Given the description of an element on the screen output the (x, y) to click on. 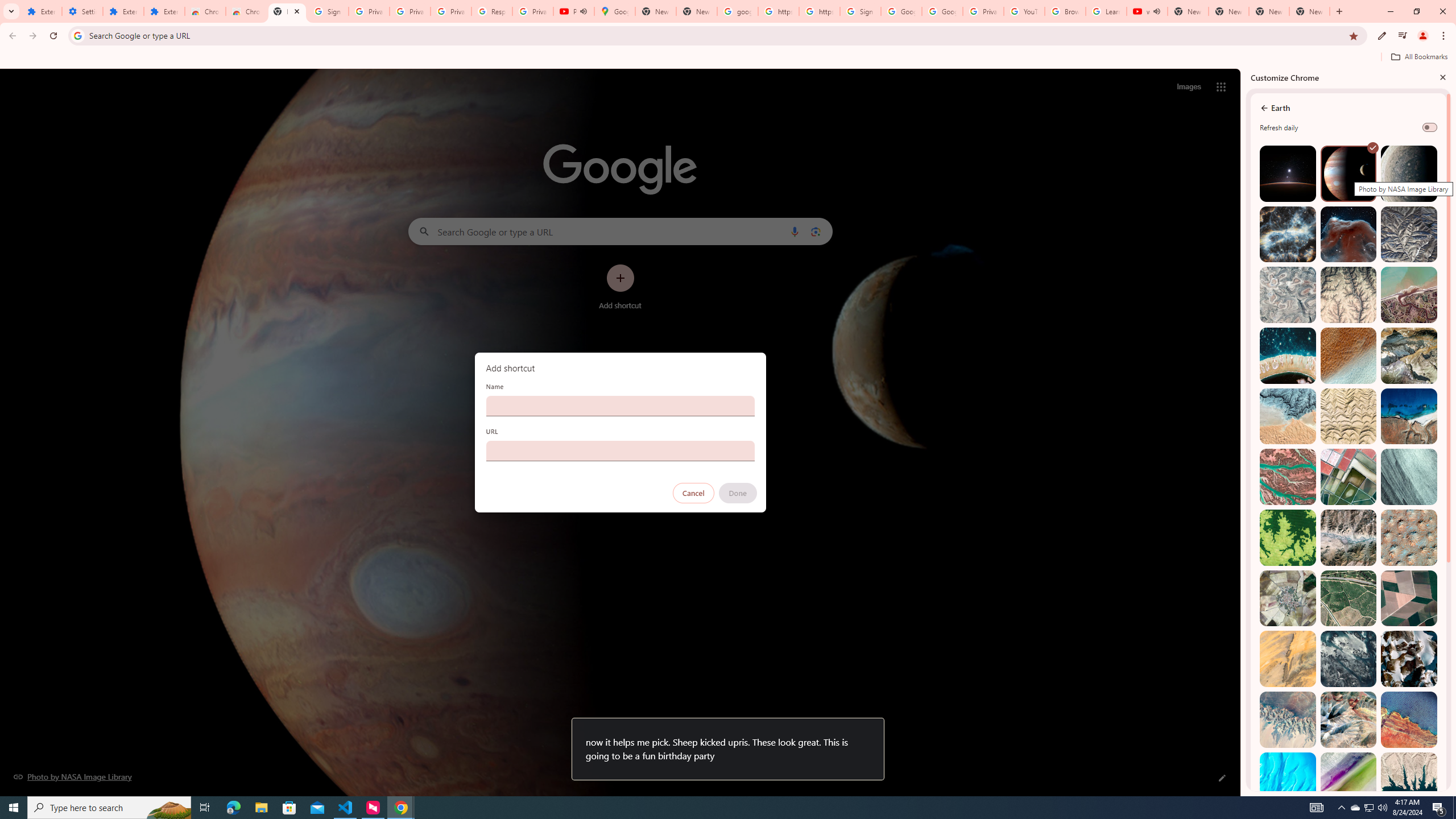
Trarza, Mauritania (1348, 355)
Hainan, China (1408, 780)
Chrome Web Store (205, 11)
Aigues-Mortes, France (1348, 476)
YouTube (1023, 11)
Mute tab (1156, 10)
Libya (1408, 719)
Dekese, DR Congo (1287, 537)
